Given the description of an element on the screen output the (x, y) to click on. 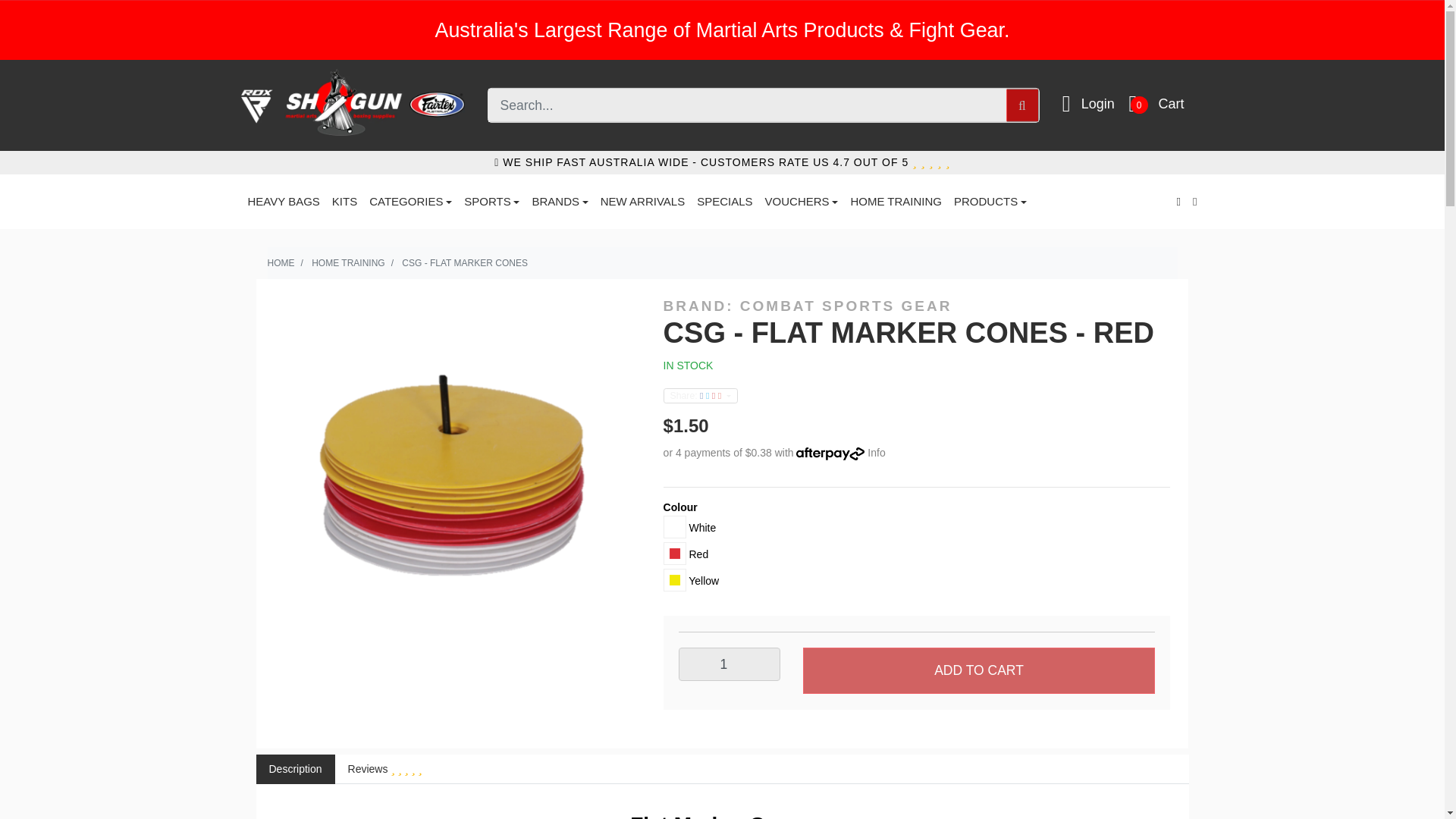
Cart (1171, 103)
Combat Sports Gear (807, 305)
Search (1022, 105)
1 (729, 663)
Add CSG - Flat Marker Cones - Red to Cart (978, 670)
KITS (344, 202)
CATEGORIES (410, 202)
HEAVY BAGS (282, 202)
0 (1139, 104)
Login (1098, 103)
